Given the description of an element on the screen output the (x, y) to click on. 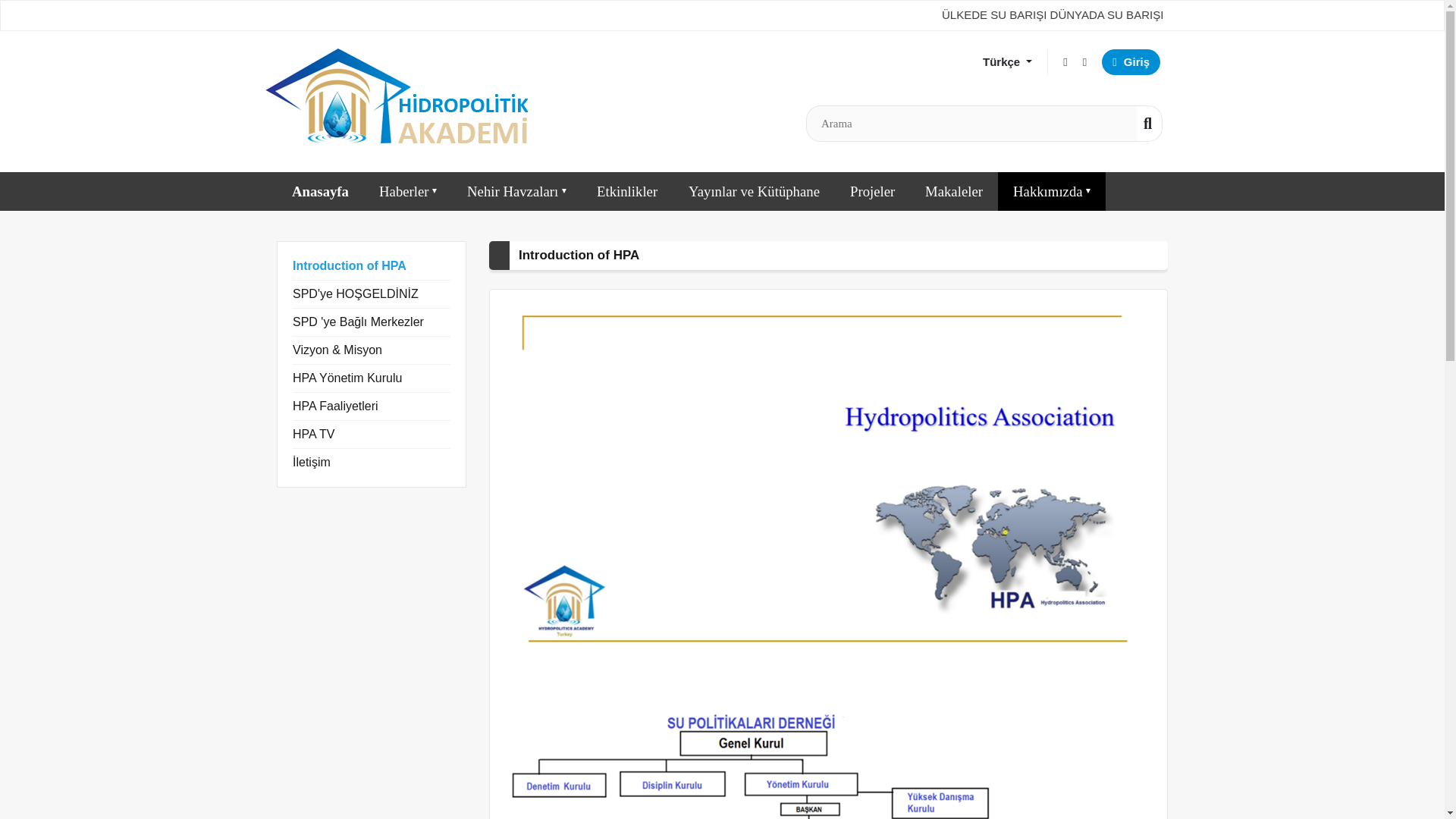
Makaleler (953, 190)
Anasayfa (320, 190)
Projeler (872, 190)
Haberler (407, 190)
Etkinlikler (626, 190)
